Given the description of an element on the screen output the (x, y) to click on. 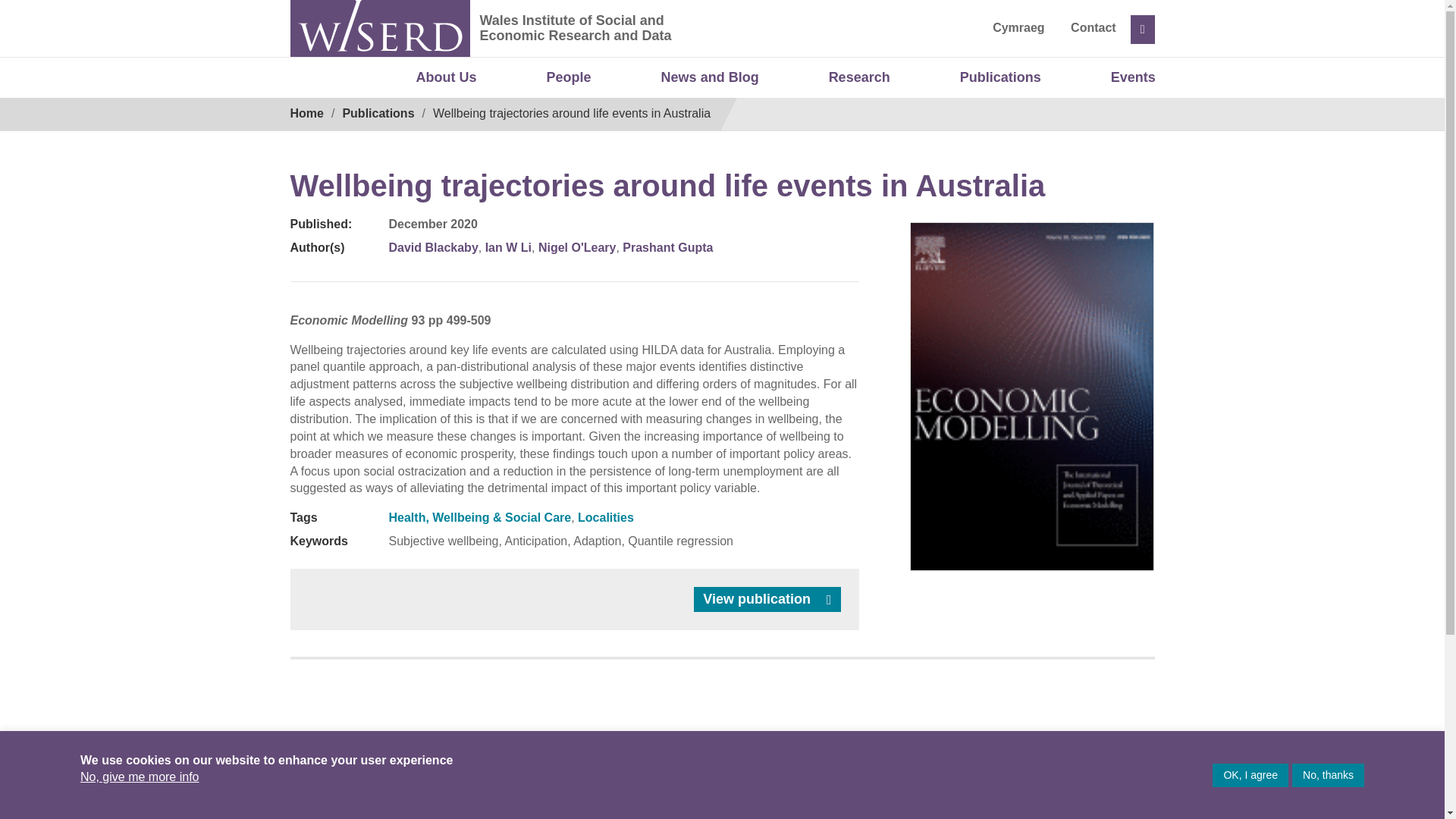
View publication (767, 599)
Wales Institute of Social and Economic Research and Data (690, 41)
Cymraeg (1018, 27)
News and Blog (710, 78)
Events (1133, 78)
Economic and Social Research Council (981, 778)
About Us (446, 78)
Localities (605, 517)
WISERD (378, 28)
Nigel O'Leary (576, 246)
ESRC (981, 778)
Home (306, 113)
Ian W Li (507, 246)
People (568, 78)
Research (859, 78)
